Given the description of an element on the screen output the (x, y) to click on. 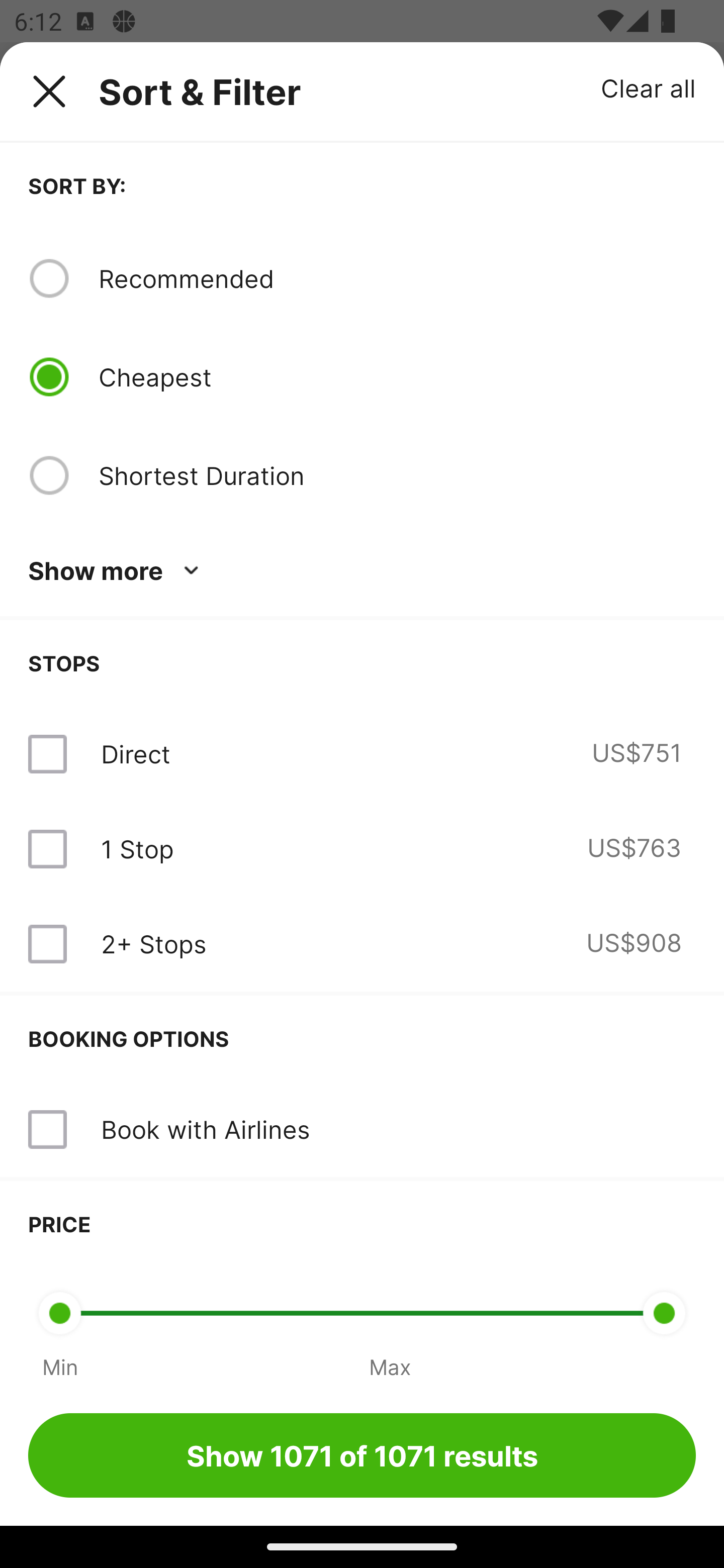
Clear all (648, 87)
Recommended  (396, 278)
Cheapest (396, 377)
Shortest Duration (396, 474)
Show more (116, 570)
Direct US$751 (362, 754)
Direct (135, 753)
1 Stop US$763 (362, 848)
1 Stop (136, 849)
2+ Stops US$908 (362, 943)
2+ Stops (153, 943)
Book with Airlines (362, 1129)
Book with Airlines (204, 1128)
Show 1071 of 1071 results (361, 1454)
